Given the description of an element on the screen output the (x, y) to click on. 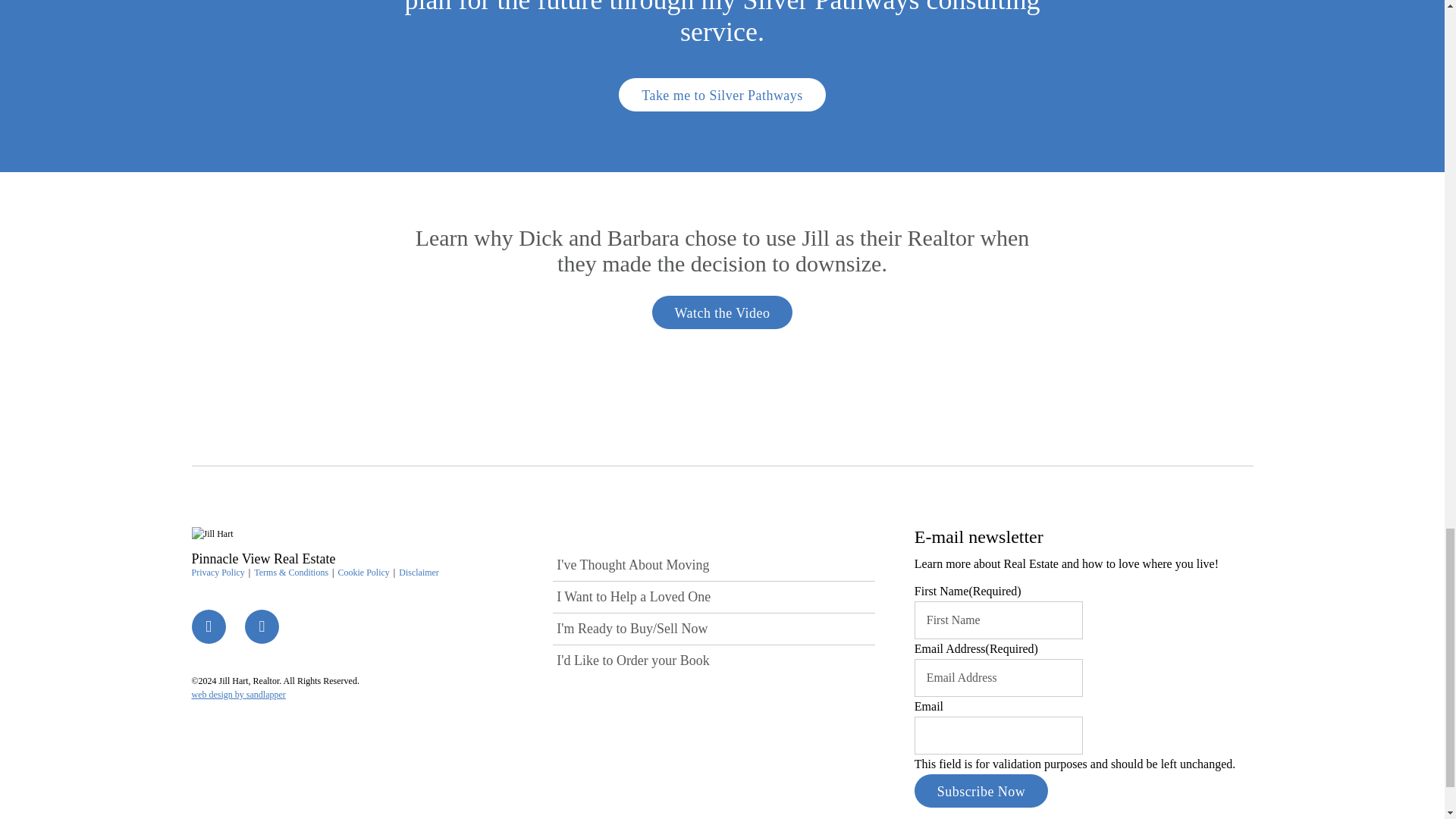
I'd Like to Order your Book (714, 660)
I Want to Help a Loved One (714, 596)
Subscribe Now (981, 790)
Watch the Video (722, 312)
Disclaimer (418, 572)
I've Thought About Moving (714, 564)
Cookie Policy (362, 572)
web design by sandlapper (237, 694)
Take me to Silver Pathways (721, 94)
Privacy Policy (217, 572)
